Given the description of an element on the screen output the (x, y) to click on. 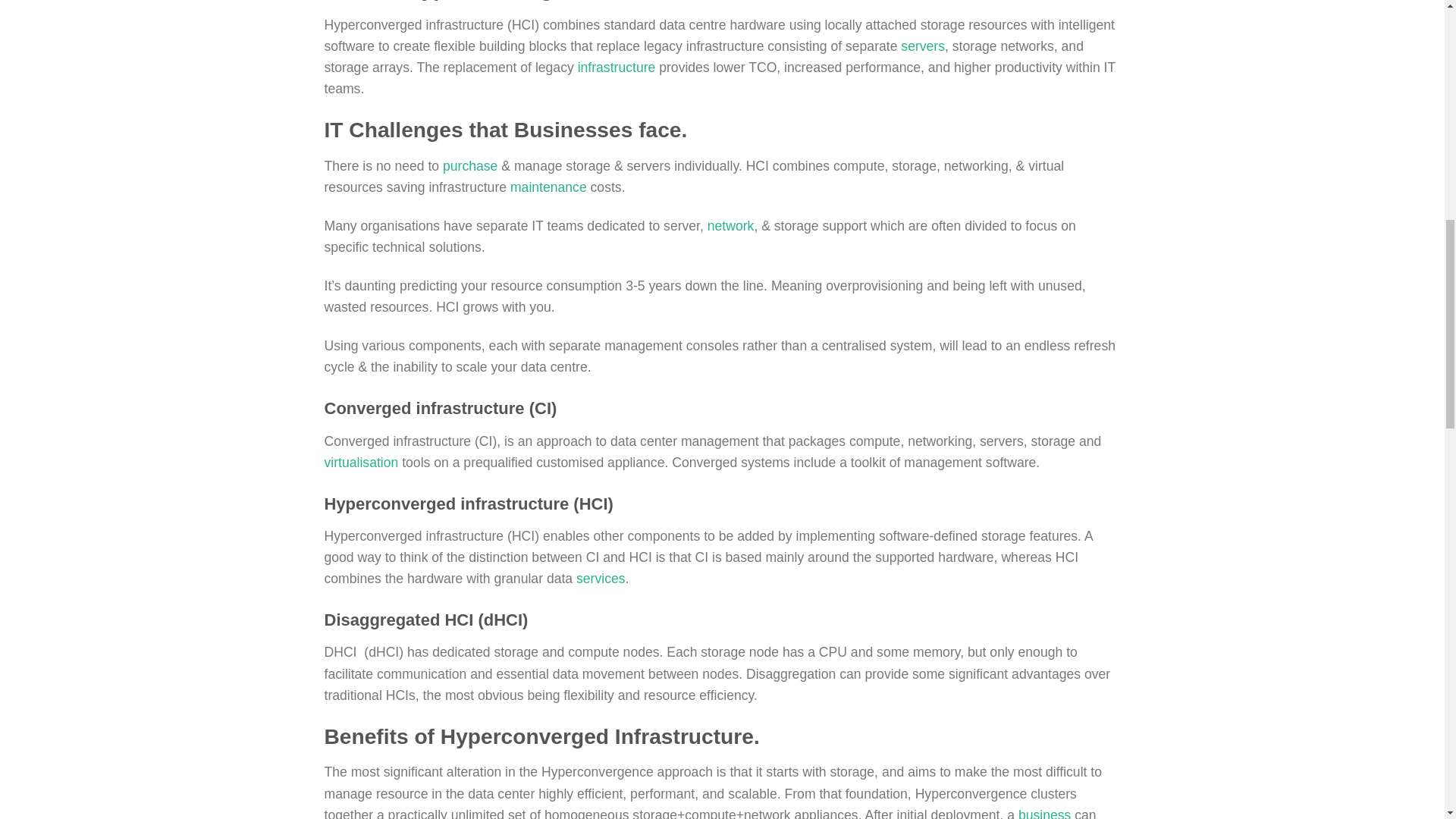
infrastructure (617, 67)
purchase (469, 165)
servers (922, 46)
virtualisation (361, 462)
business (1043, 813)
maintenance (548, 186)
network (730, 225)
services (601, 578)
